Given the description of an element on the screen output the (x, y) to click on. 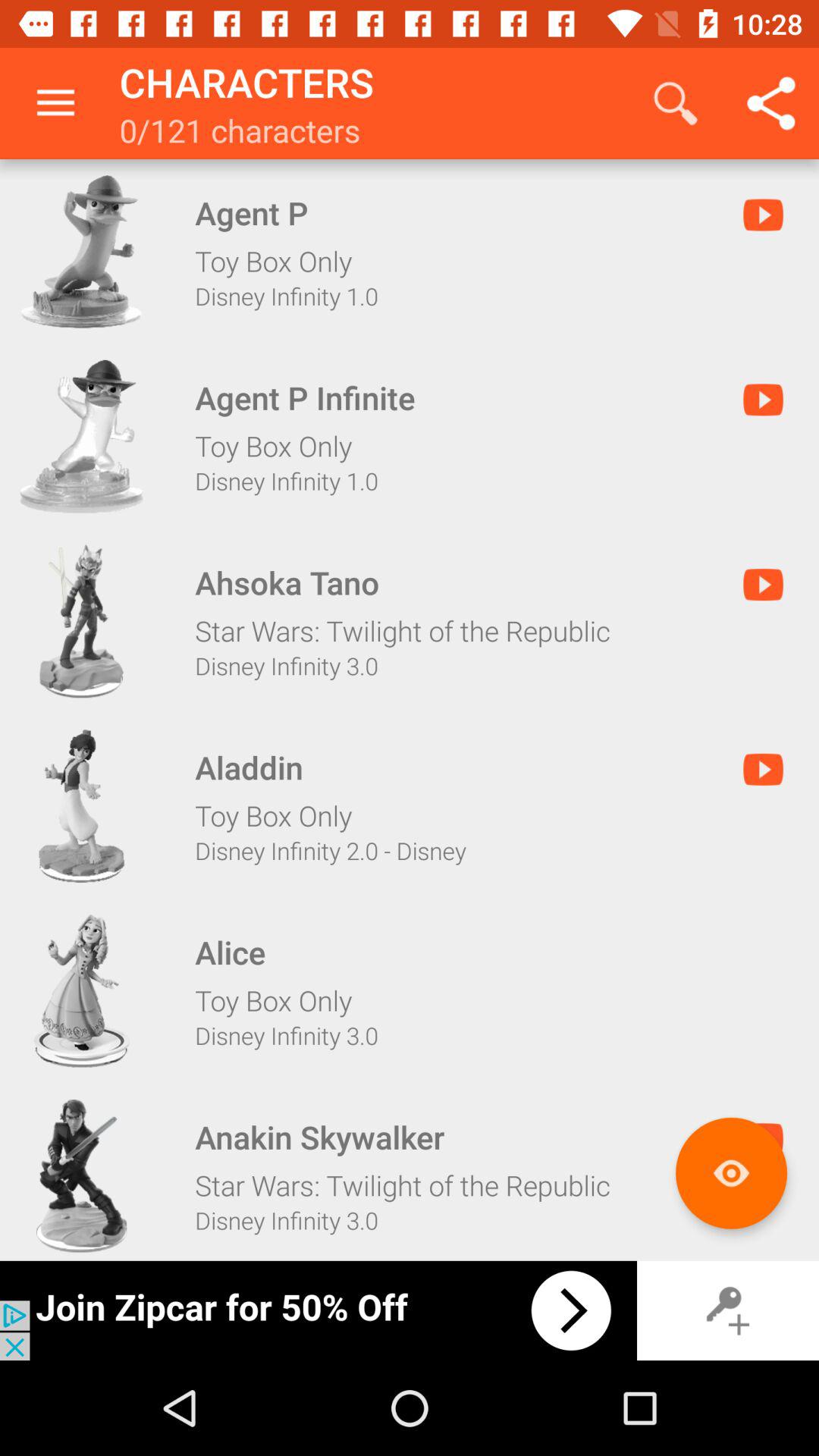
click to aladdin character (81, 805)
